Given the description of an element on the screen output the (x, y) to click on. 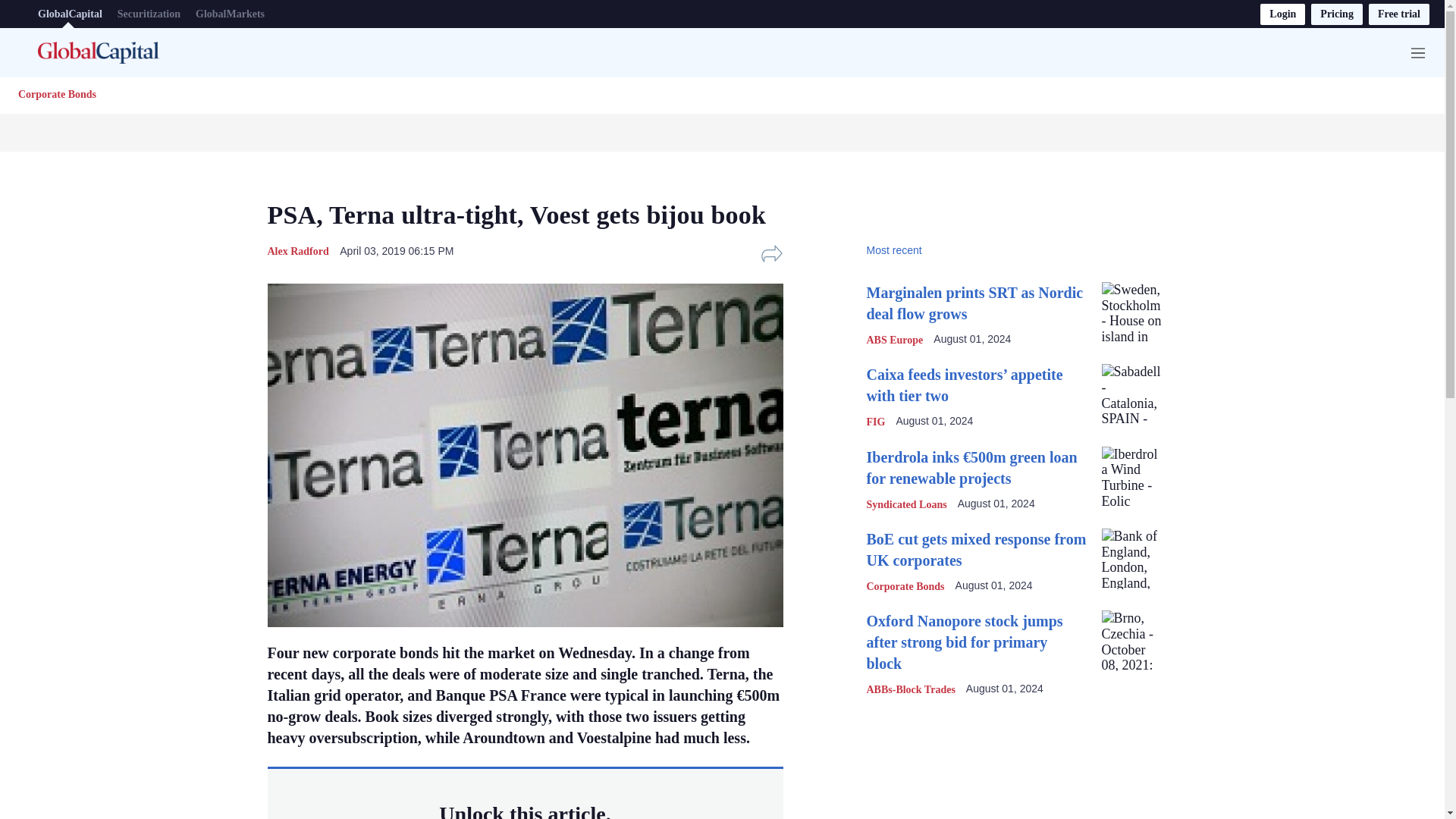
GlobalMarkets (229, 13)
Login (1282, 13)
GlobalCapital (69, 13)
Securitization (148, 13)
Free trial (1398, 13)
Share (771, 253)
Pricing (1336, 13)
